Given the description of an element on the screen output the (x, y) to click on. 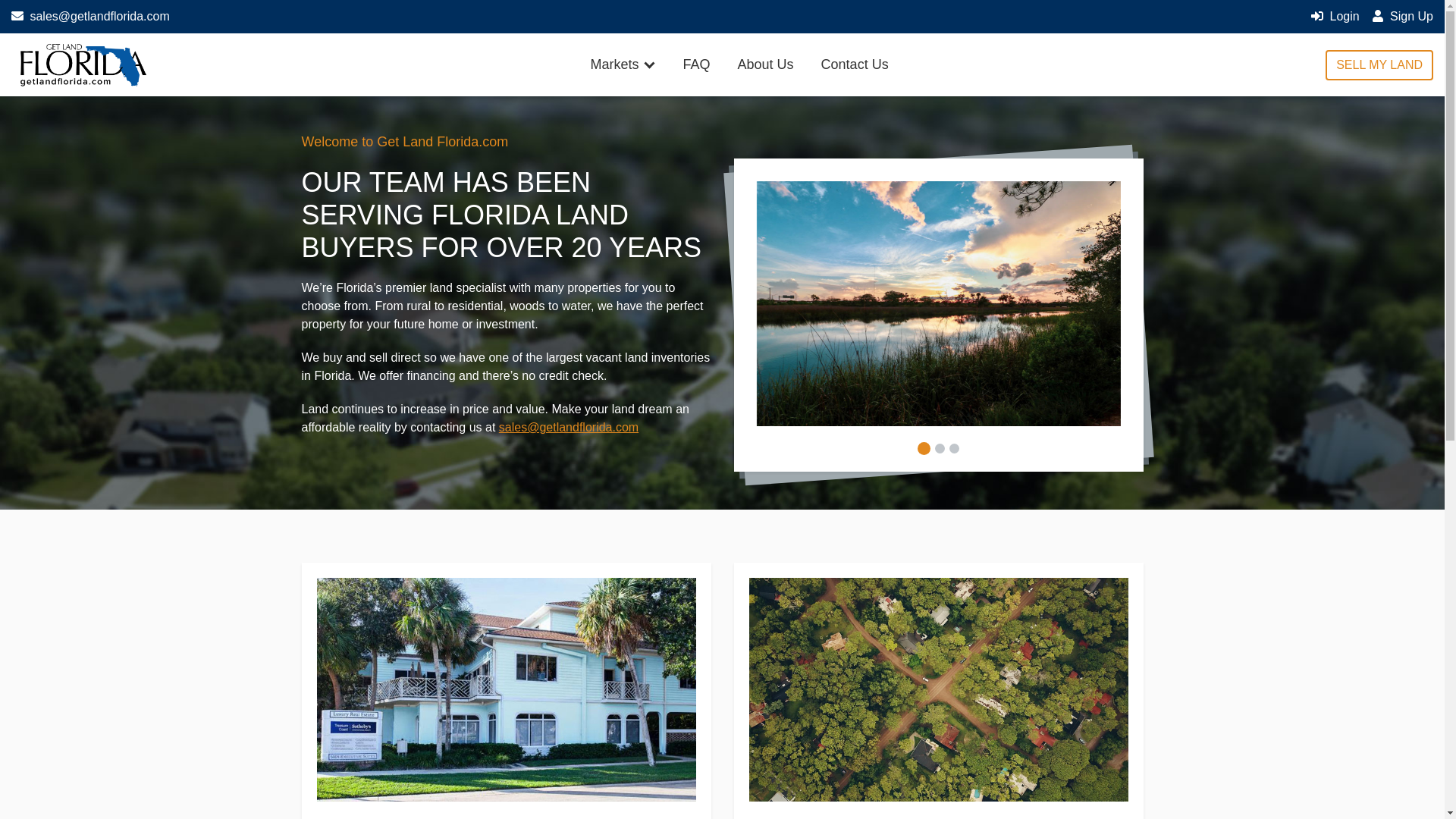
Login (1335, 16)
SITE (81, 64)
About Us (765, 64)
Contact Us (855, 64)
Sign Up (1401, 16)
Markets (622, 64)
SELL MY LAND (1378, 64)
